Given the description of an element on the screen output the (x, y) to click on. 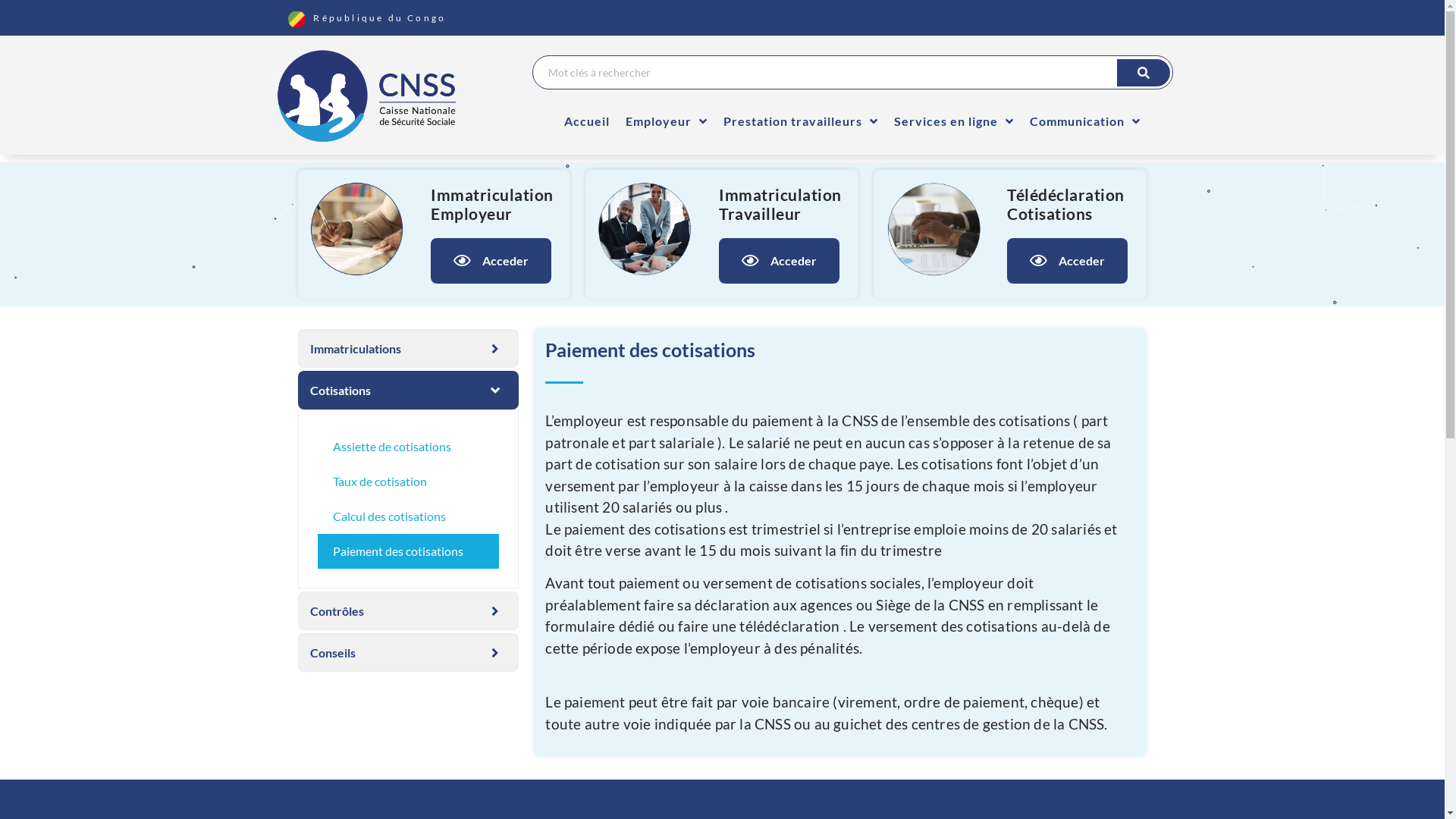
Services en ligne Element type: text (953, 121)
Search Element type: hover (852, 72)
Calcul des cotisations Element type: text (407, 515)
Acceder Element type: text (1067, 260)
Employeur Element type: text (666, 121)
Taux de cotisation Element type: text (407, 481)
Assiette de cotisations Element type: text (407, 446)
Acceder Element type: text (778, 260)
Paiement des cotisations Element type: text (407, 550)
Acceder Element type: text (490, 260)
Prestation travailleurs Element type: text (800, 121)
Communication Element type: text (1085, 121)
Accueil Element type: text (586, 121)
